Given the description of an element on the screen output the (x, y) to click on. 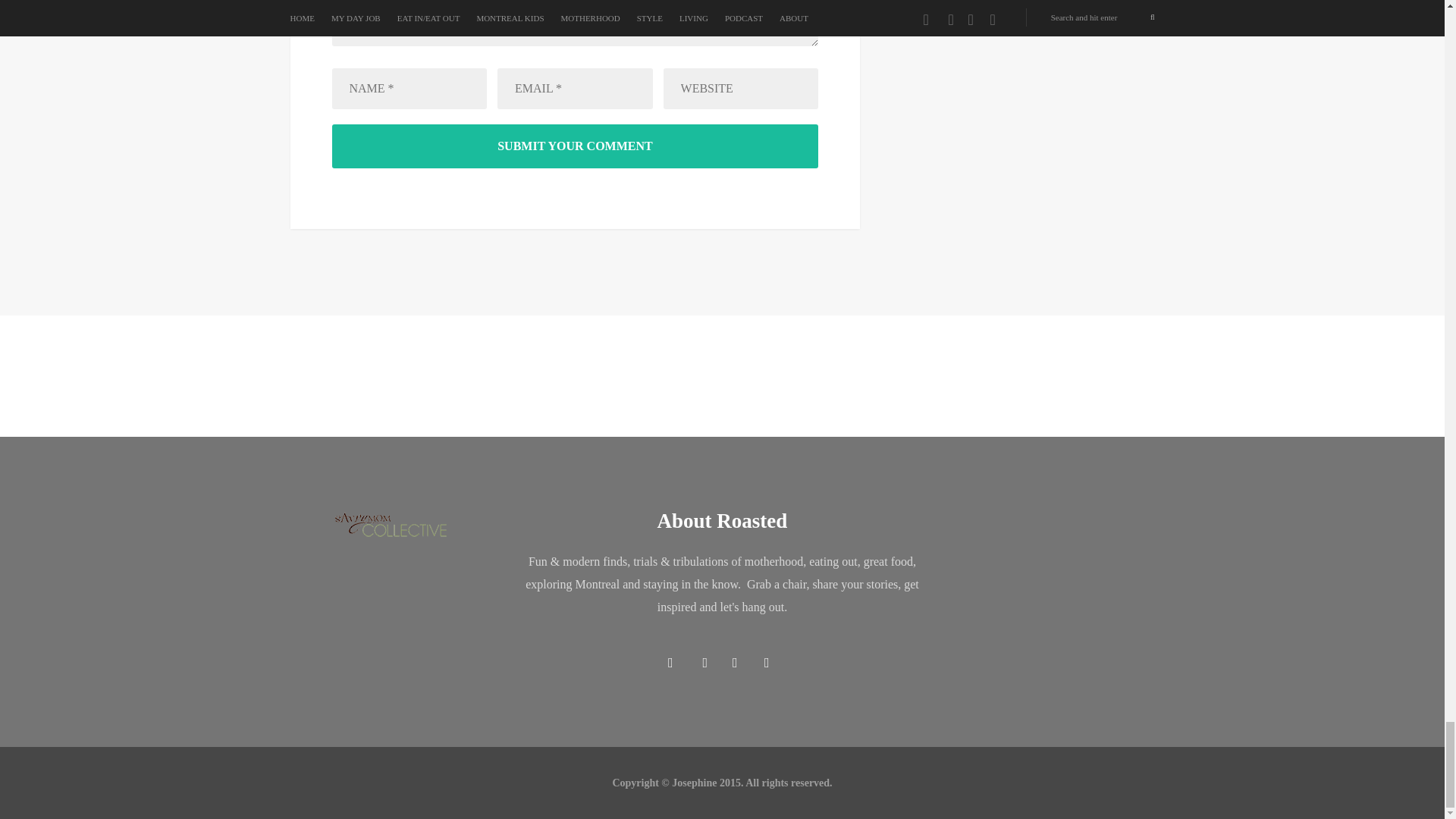
SUBMIT YOUR COMMENT (574, 146)
